Given the description of an element on the screen output the (x, y) to click on. 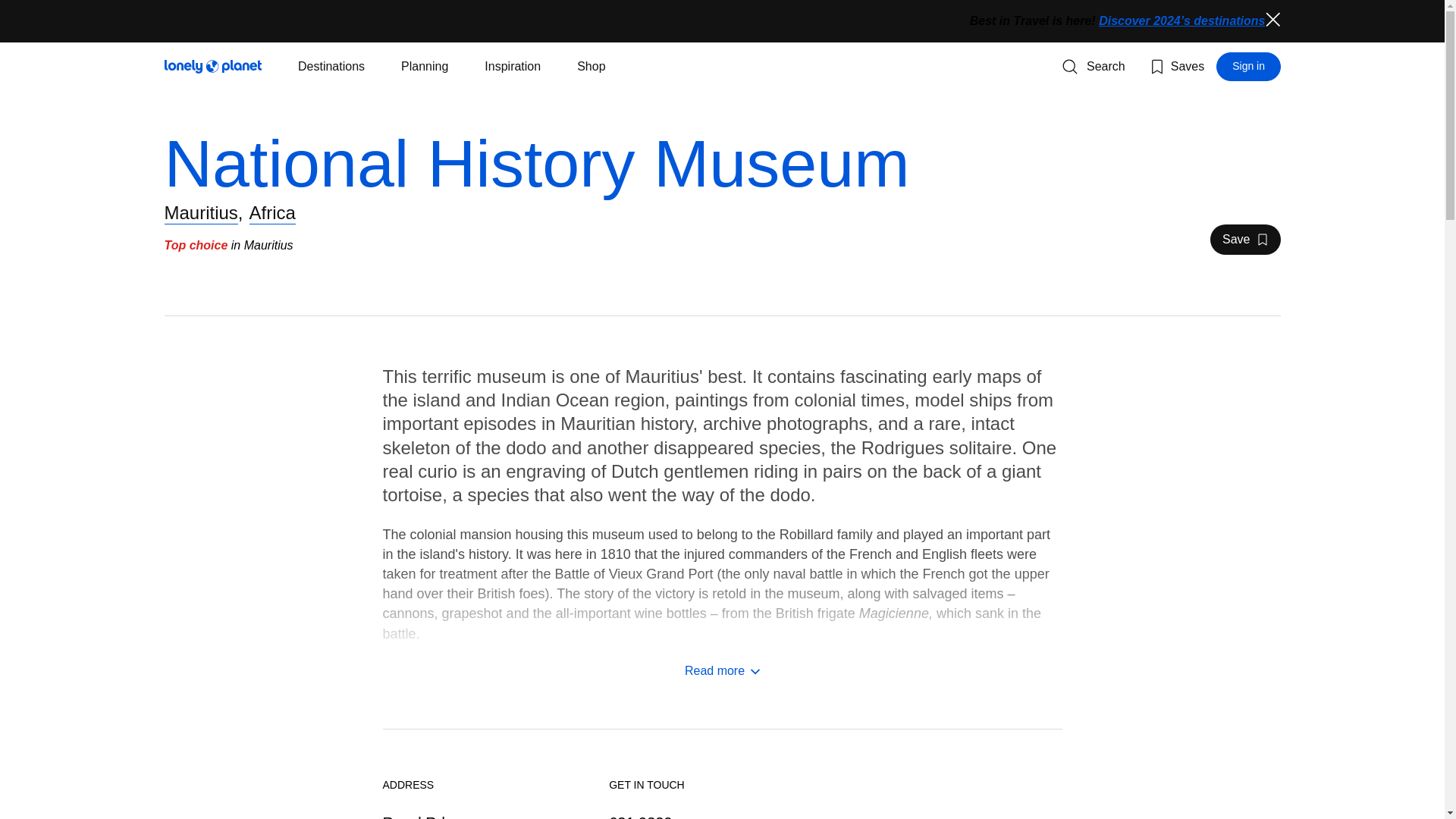
Planning (1244, 239)
Lonely Planet (424, 66)
Royal Rd (211, 66)
Destinations (412, 816)
Inspiration (330, 66)
Mauritius (1248, 66)
Close alert (512, 66)
Africa (200, 212)
